Given the description of an element on the screen output the (x, y) to click on. 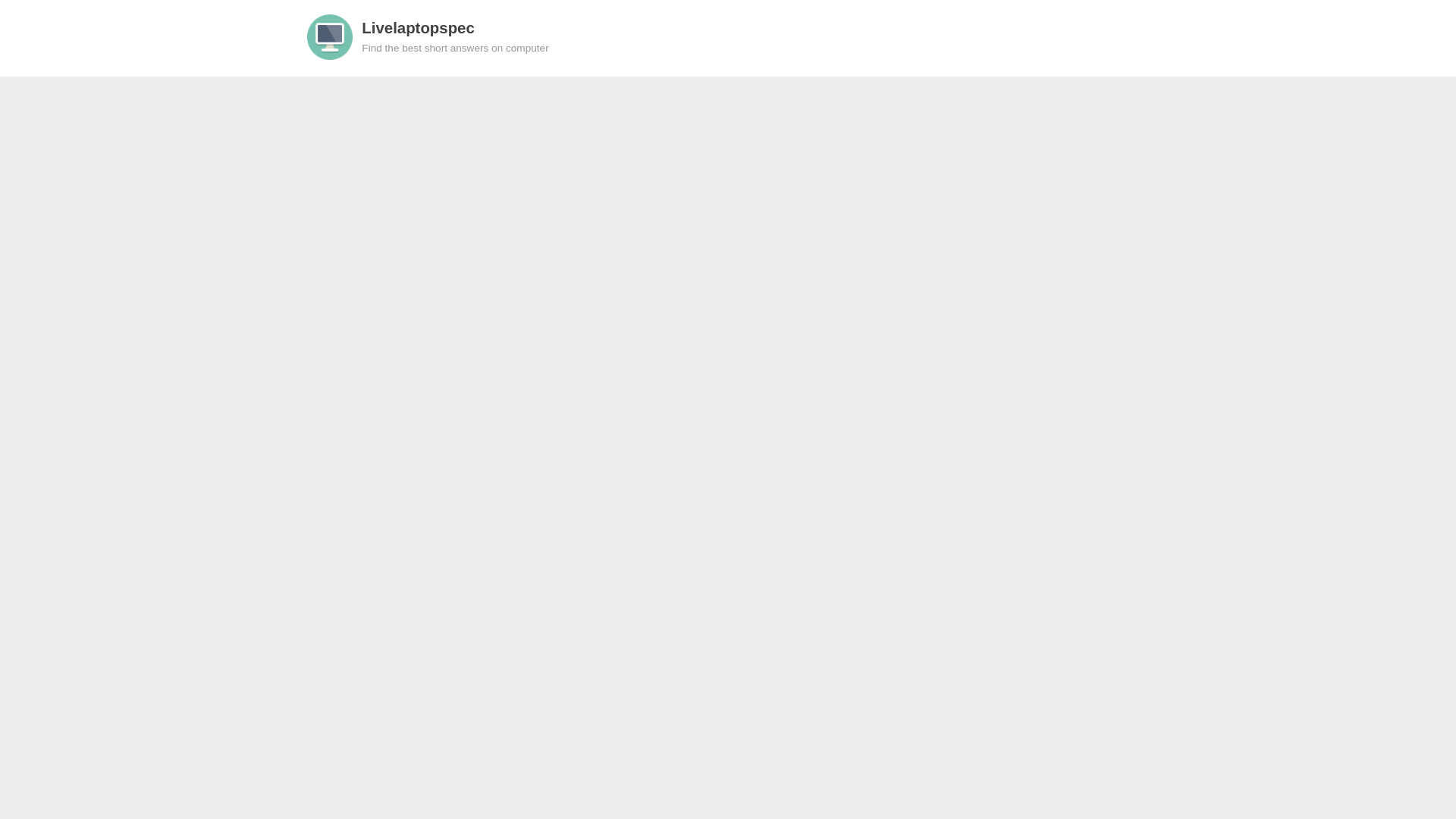
Livelaptopspec (417, 27)
